Given the description of an element on the screen output the (x, y) to click on. 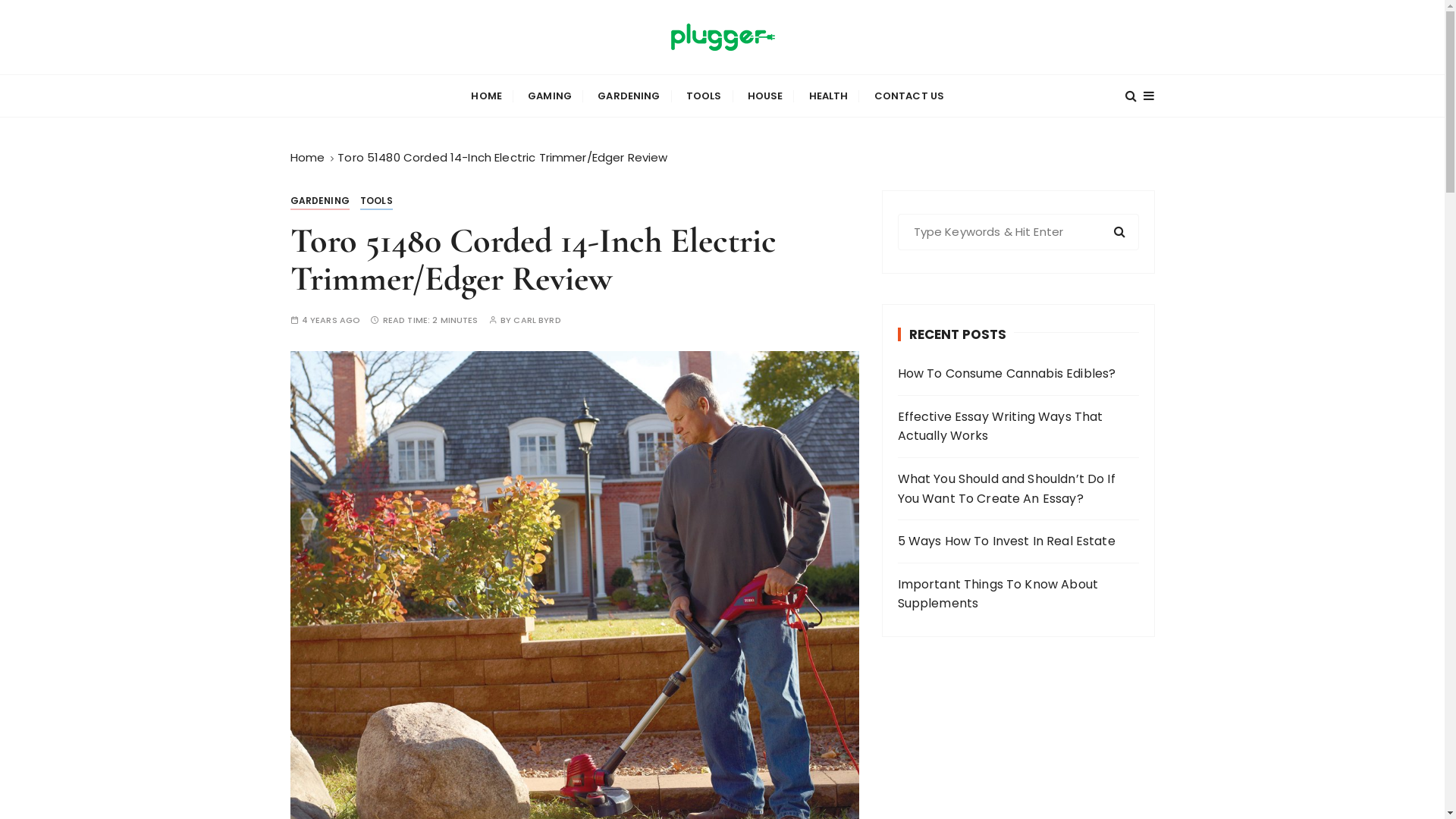
CARL BYRD Element type: text (536, 320)
Effective Essay Writing Ways That Actually Works Element type: text (1018, 426)
How To Consume Cannabis Edibles? Element type: text (1018, 373)
Important Things To Know About Supplements Element type: text (1018, 593)
CONTACT US Element type: text (909, 95)
GAMING Element type: text (549, 95)
5 Ways How To Invest In Real Estate Element type: text (1018, 541)
Toro 51480 Corded 14-Inch Electric Trimmer/Edger Review Element type: text (502, 157)
TOOLS Element type: text (703, 95)
Plugger Element type: text (348, 84)
HOME Element type: text (486, 95)
Home Element type: text (306, 157)
HEALTH Element type: text (828, 95)
GARDENING Element type: text (318, 200)
TOOLS Element type: text (376, 200)
HOUSE Element type: text (765, 95)
GARDENING Element type: text (628, 95)
